Given the description of an element on the screen output the (x, y) to click on. 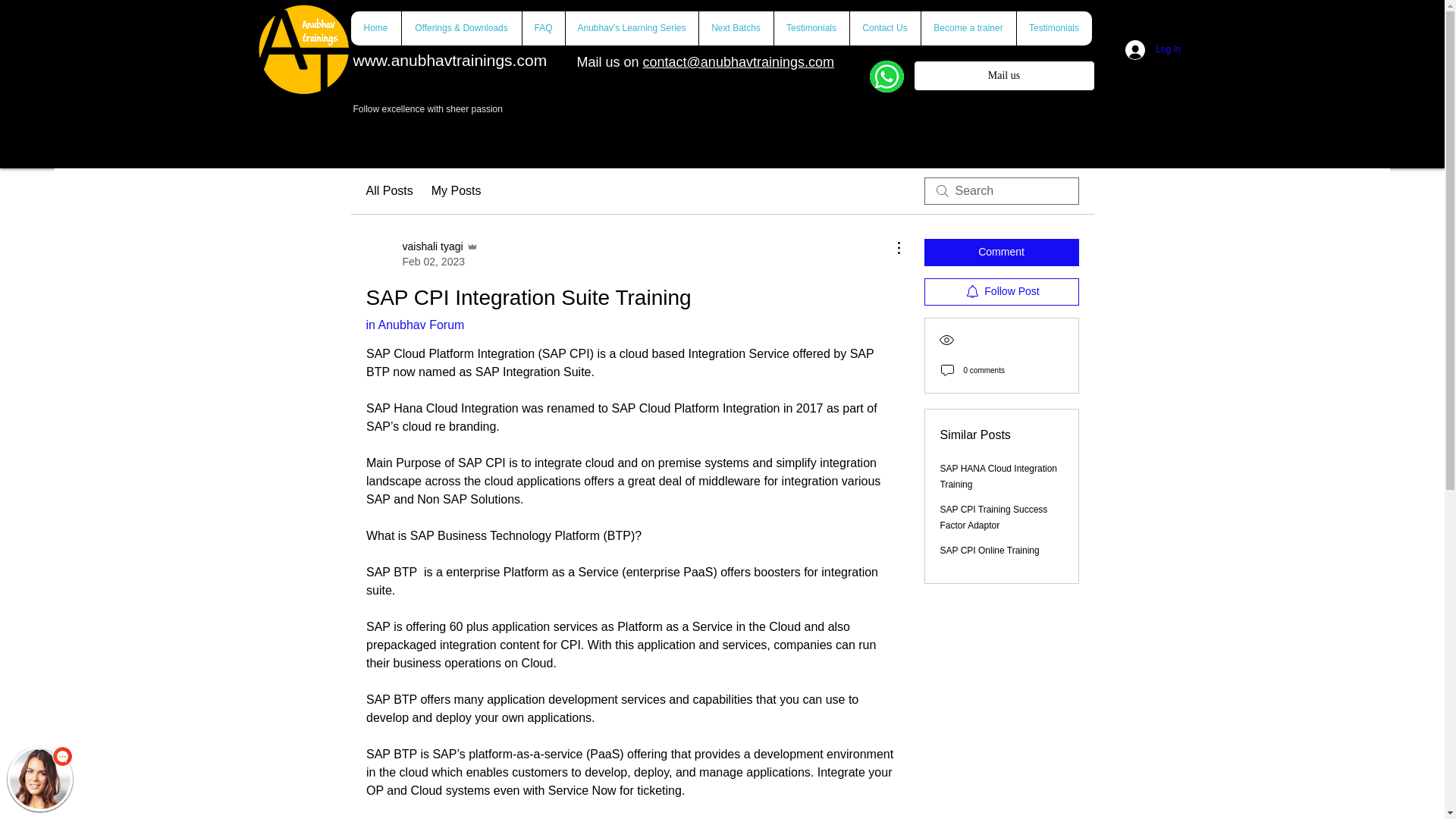
www.anubhavtrainings.com (450, 59)
SAP CPI Online Training (989, 550)
All Posts (388, 190)
Next Batchs (735, 28)
Home (375, 28)
Follow Post (1000, 291)
Mail us (1003, 75)
Become a trainer (968, 28)
SAP HANA Cloud Integration Training (421, 254)
